Given the description of an element on the screen output the (x, y) to click on. 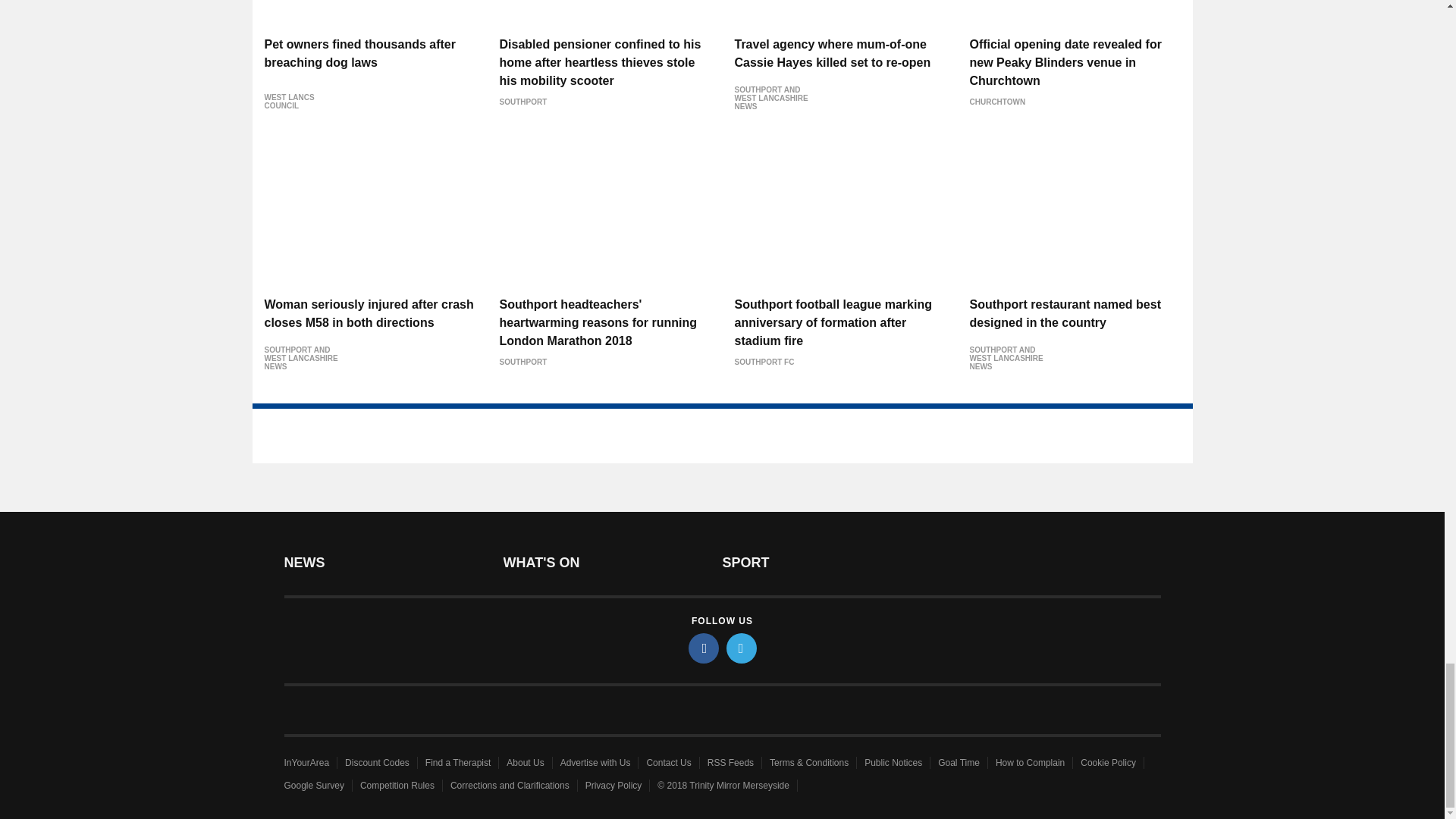
facebook (703, 648)
twitter (741, 648)
